Given the description of an element on the screen output the (x, y) to click on. 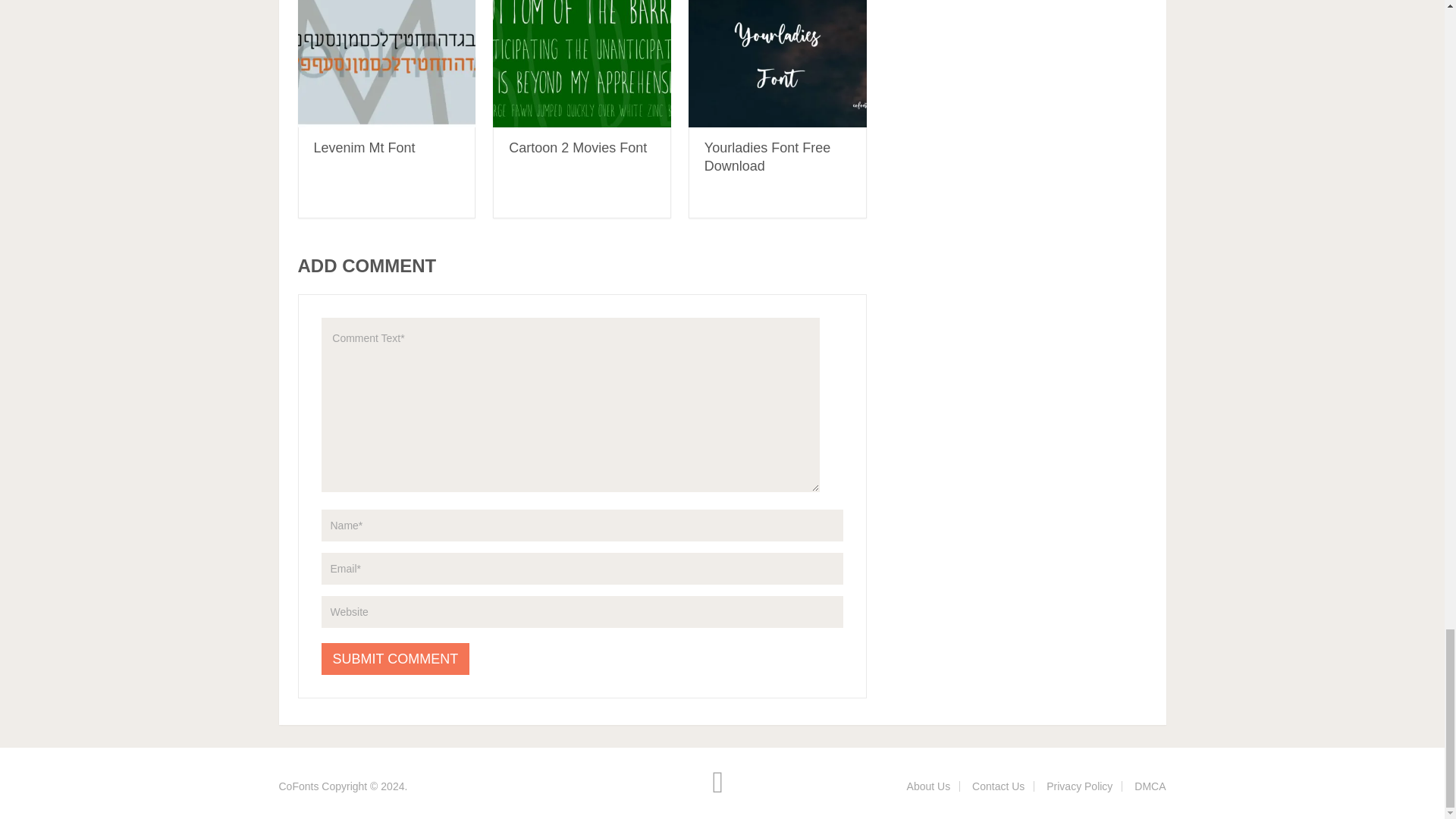
Yourladies Font Free Download (766, 156)
Cartoon 2 Movies Font (582, 63)
Levenim Mt Font (386, 63)
Levenim Mt Font (364, 147)
Submit Comment (395, 658)
Cartoon 2 Movies Font (577, 147)
Submit Comment (395, 658)
Levenim Mt Font (364, 147)
